Given the description of an element on the screen output the (x, y) to click on. 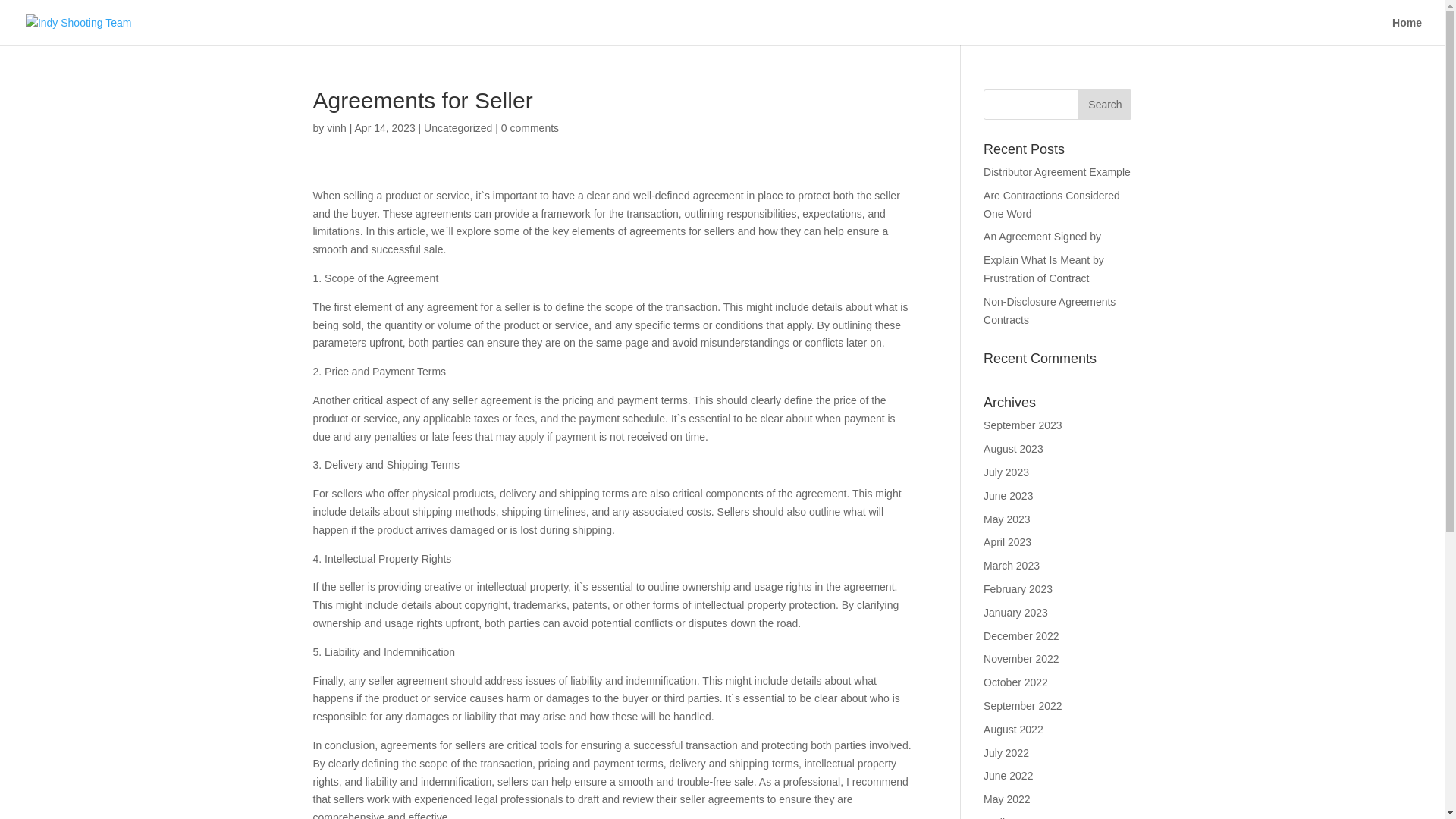
Posts by vinh (336, 128)
October 2022 (1016, 682)
July 2022 (1006, 752)
September 2023 (1023, 425)
0 comments (529, 128)
June 2022 (1008, 775)
February 2023 (1018, 589)
March 2023 (1011, 565)
August 2022 (1013, 729)
April 2022 (1007, 817)
August 2023 (1013, 449)
Search (1104, 104)
July 2023 (1006, 472)
An Agreement Signed by (1042, 236)
November 2022 (1021, 658)
